Given the description of an element on the screen output the (x, y) to click on. 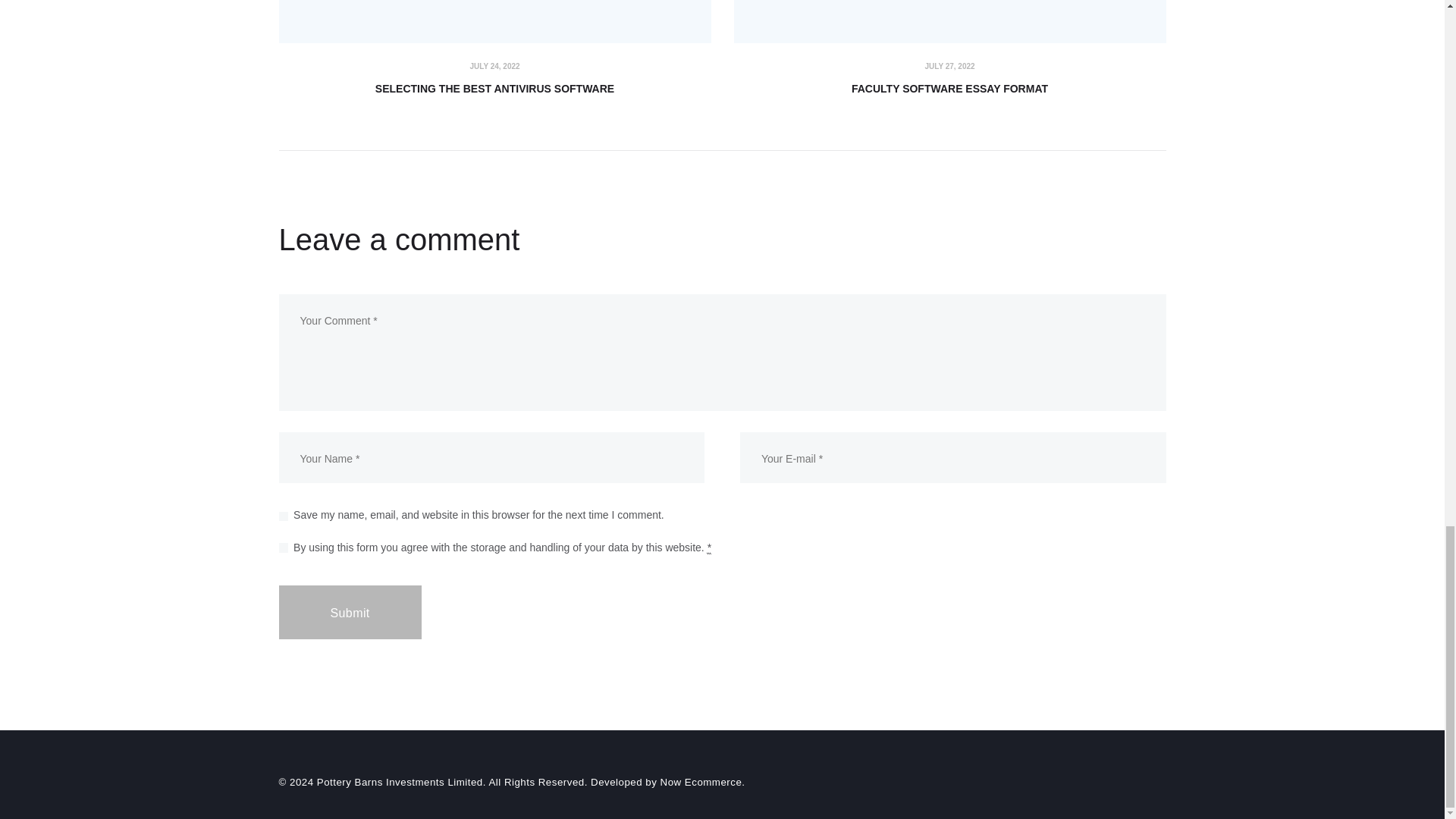
Submit (350, 612)
JULY 24, 2022 (493, 66)
SELECTING THE BEST ANTIVIRUS SOFTWARE (495, 88)
